Given the description of an element on the screen output the (x, y) to click on. 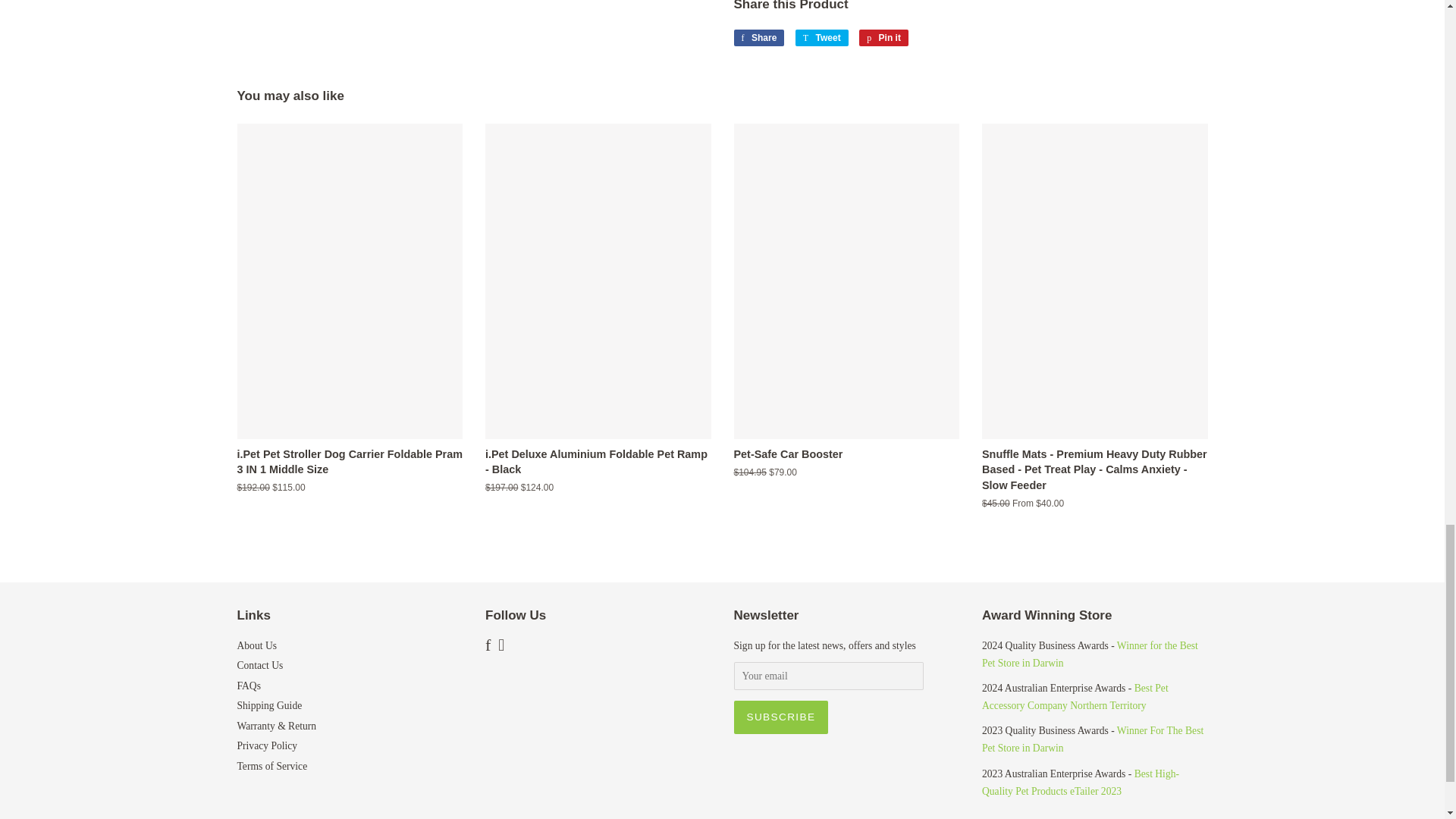
Pin on Pinterest (883, 37)
Winner for the Best Pet Store in Darwin (1089, 654)
Subscribe (780, 717)
Tweet on Twitter (821, 37)
Share on Facebook (758, 37)
Winner For The Best Pet Store in Darwin  (1092, 738)
Best High-Quality Pet Products eTailer 2023 (1080, 781)
